Given the description of an element on the screen output the (x, y) to click on. 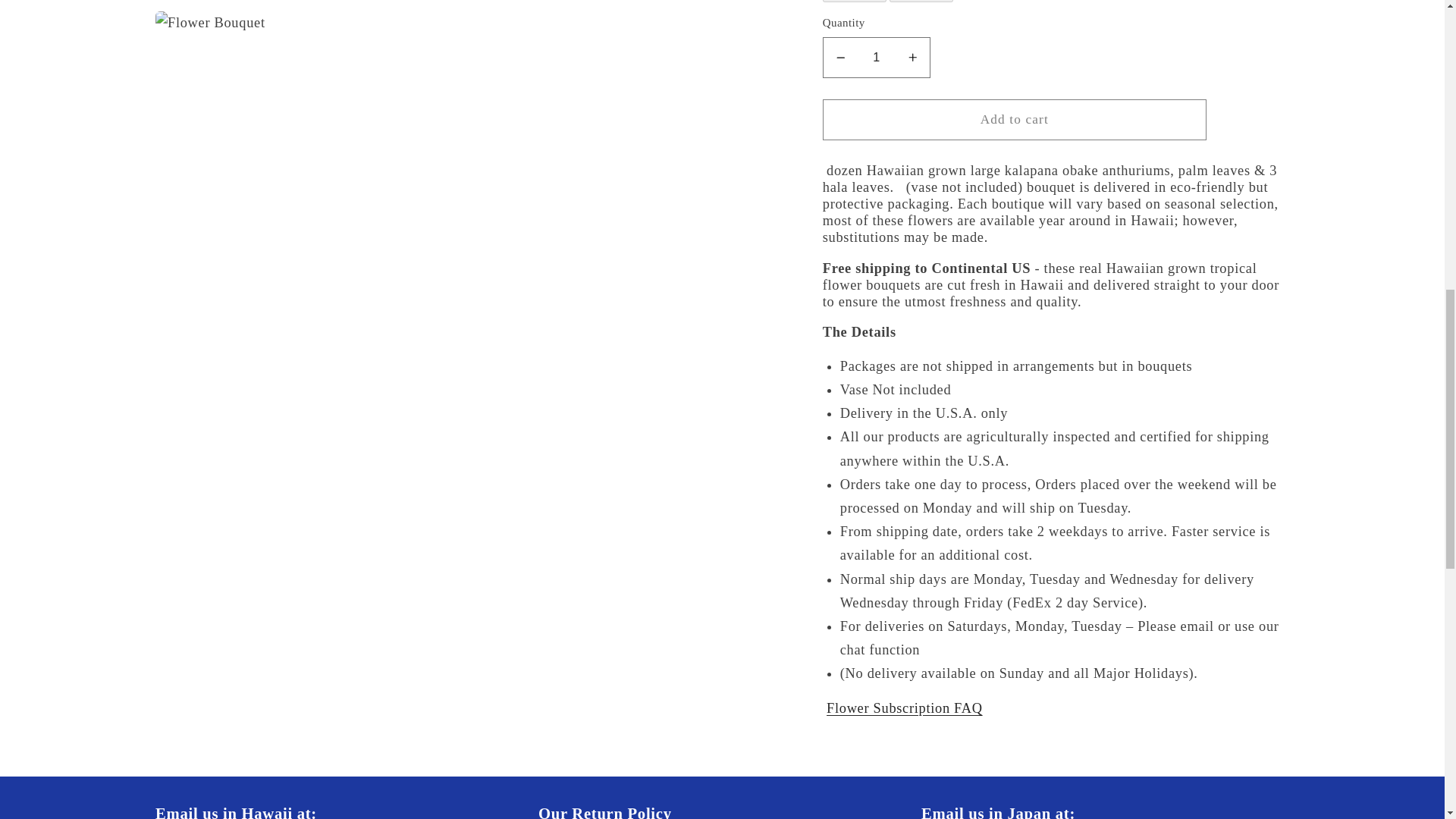
Flower Subscription FAQ (904, 305)
